Given the description of an element on the screen output the (x, y) to click on. 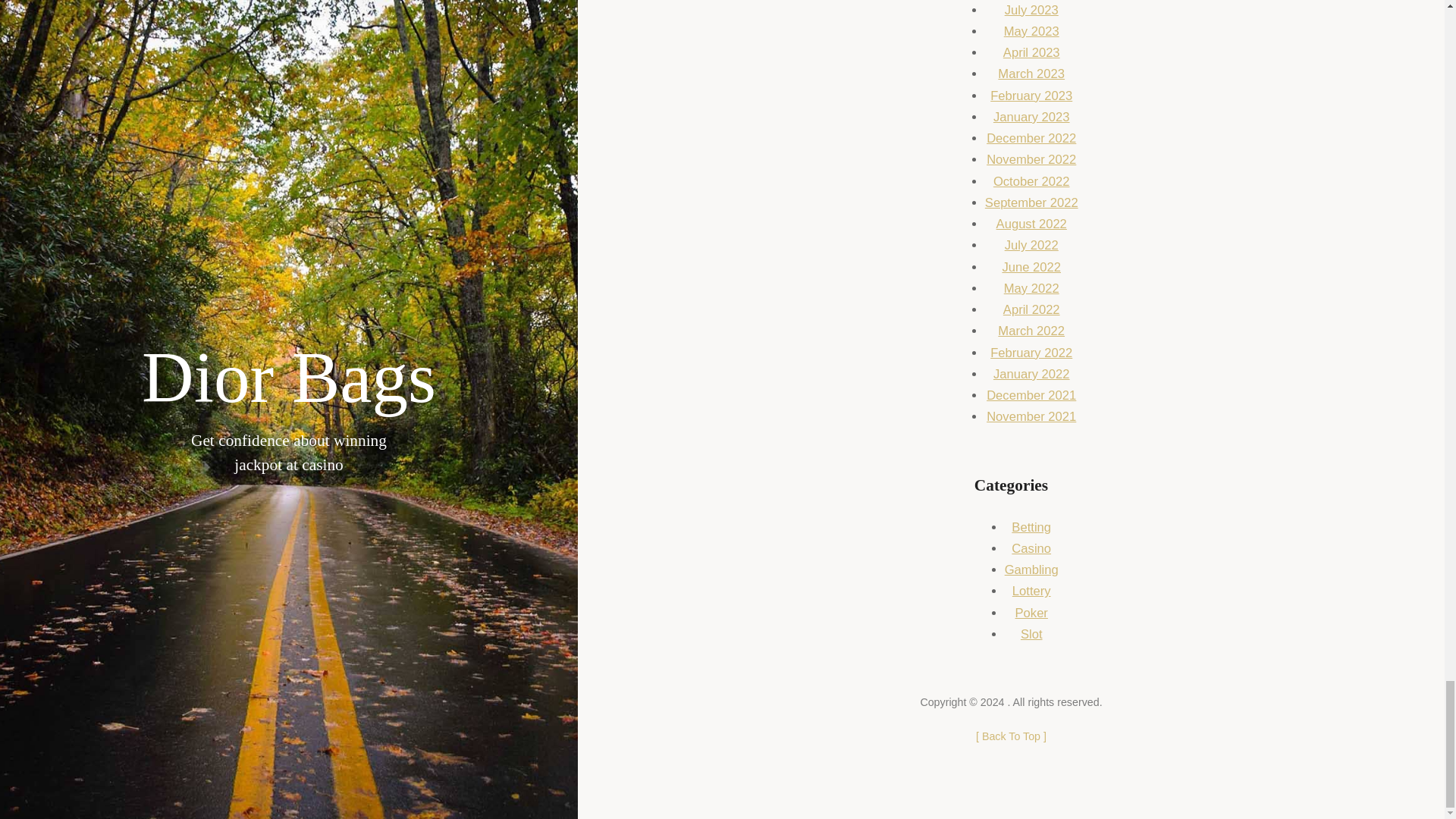
Back To Top (1010, 736)
February 2023 (1030, 95)
March 2023 (1030, 73)
July 2023 (1031, 10)
May 2023 (1031, 31)
April 2023 (1031, 52)
